Given the description of an element on the screen output the (x, y) to click on. 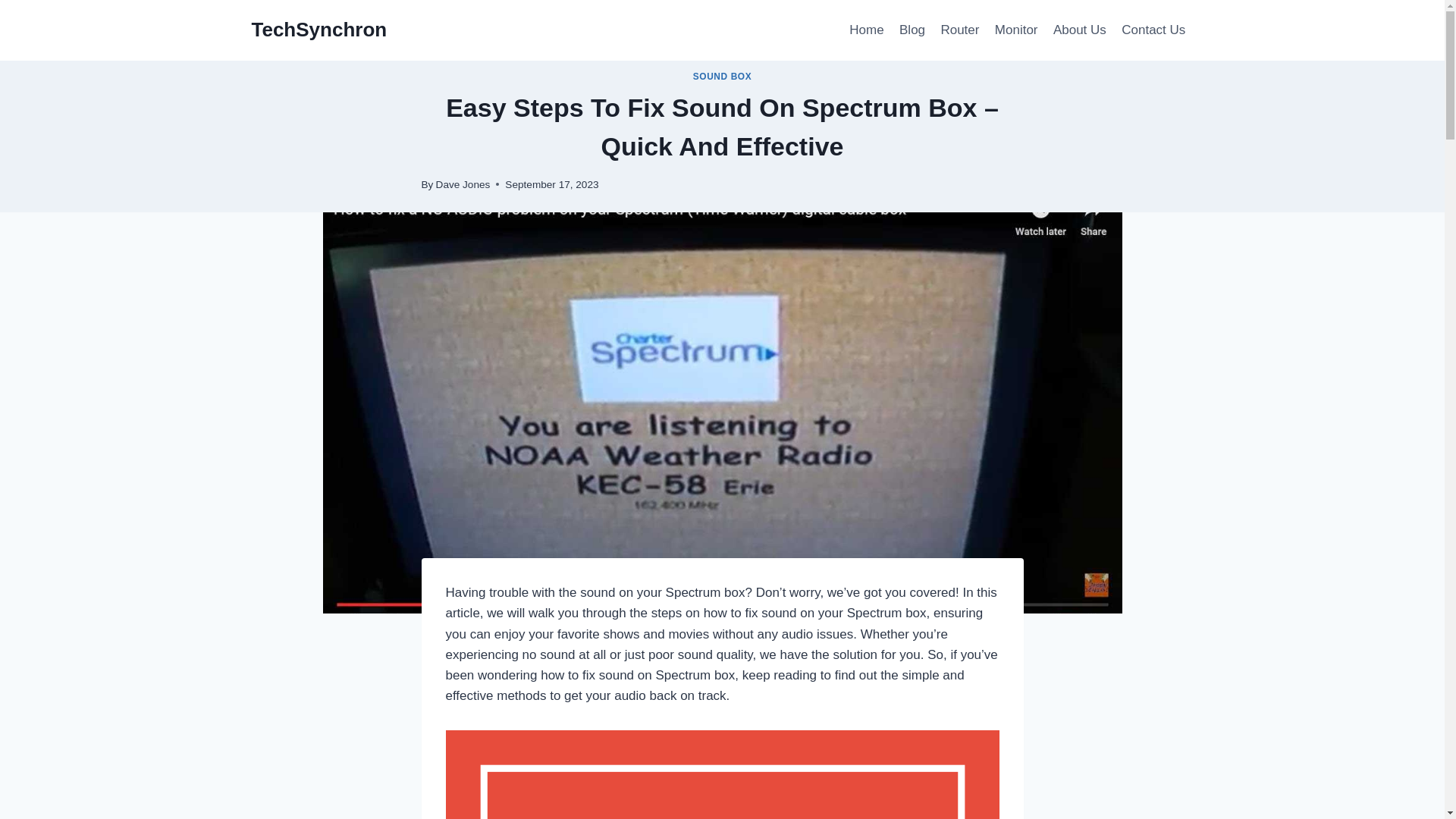
Blog (912, 30)
SOUND BOX (722, 76)
TechSynchron (319, 29)
Dave Jones (462, 184)
Contact Us (1152, 30)
About Us (1079, 30)
Router (960, 30)
Home (866, 30)
Monitor (1016, 30)
